Given the description of an element on the screen output the (x, y) to click on. 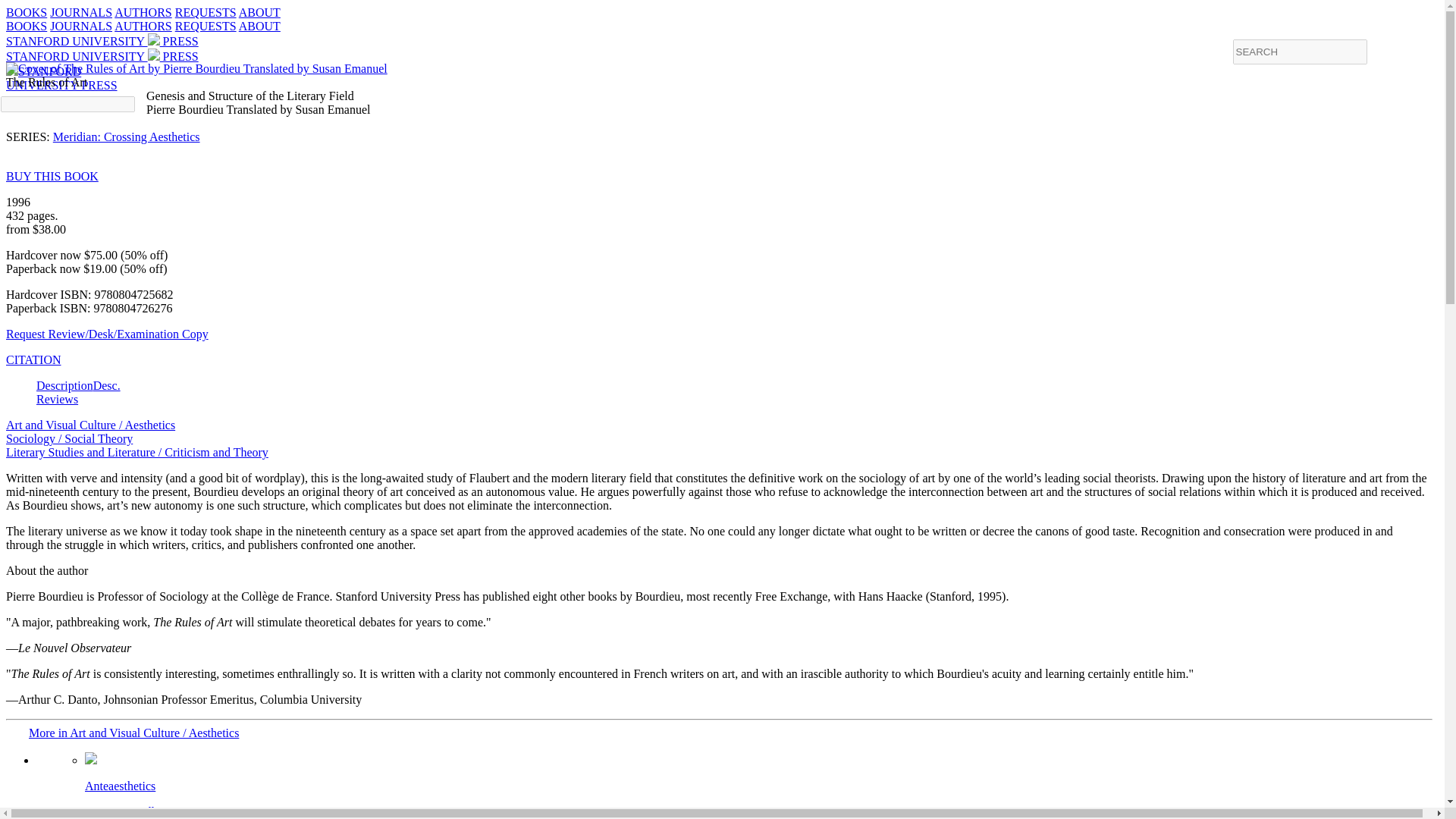
REQUESTS (204, 25)
BUY THIS BOOK (52, 175)
STANFORD UNIVERSITY PRESS (101, 56)
STANFORD UNIVERSITY PRESS (101, 41)
AUTHORS (143, 25)
JOURNALS (80, 11)
ABOUT (61, 78)
CITATION (259, 11)
ABOUT (33, 359)
DescriptionDesc. (259, 25)
BOOKS (752, 786)
Meridian: Crossing Aesthetics (78, 385)
AUTHORS (25, 11)
